Given the description of an element on the screen output the (x, y) to click on. 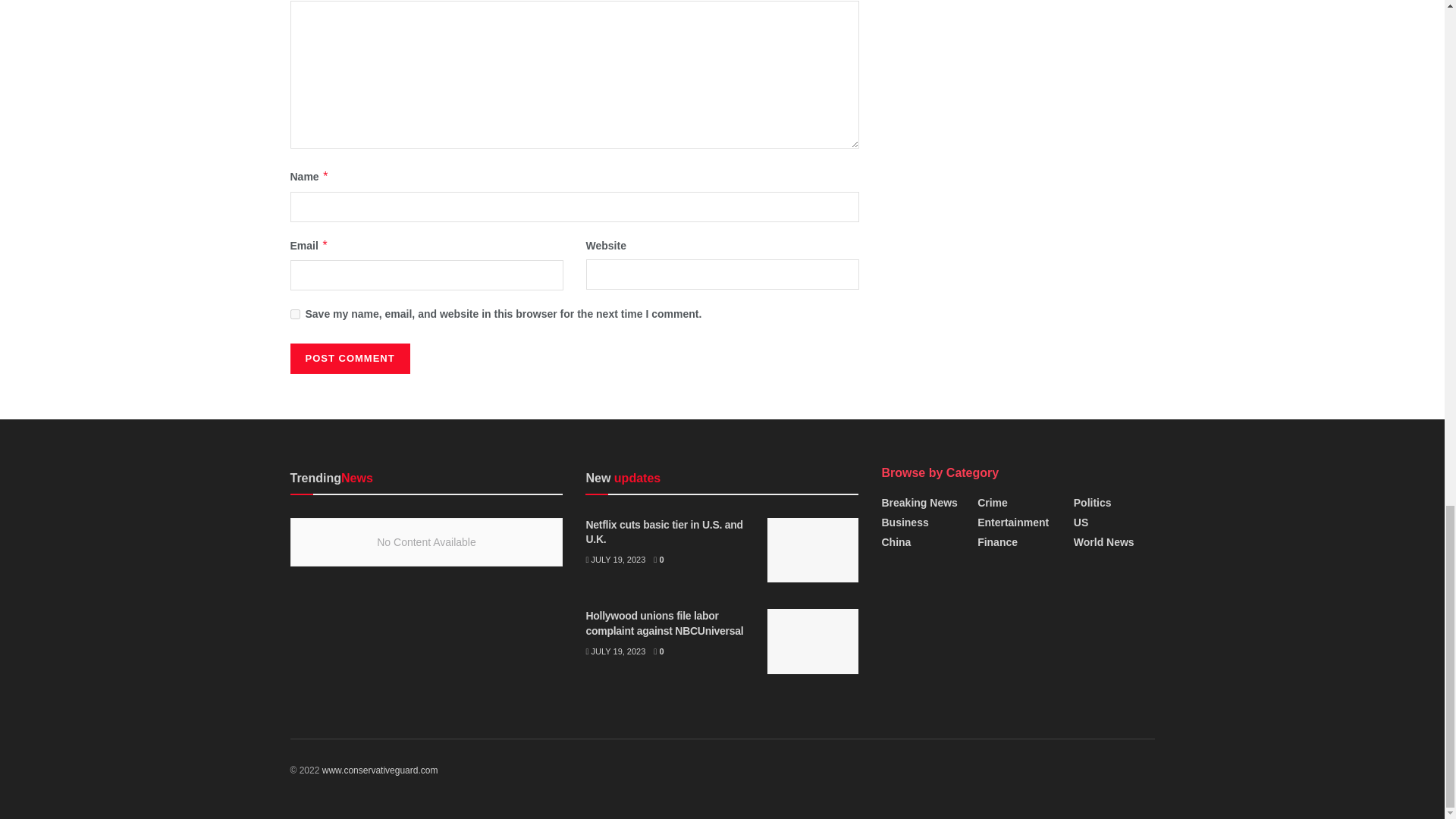
www.conservativeguard.com (379, 769)
yes (294, 314)
Post Comment (349, 358)
